Given the description of an element on the screen output the (x, y) to click on. 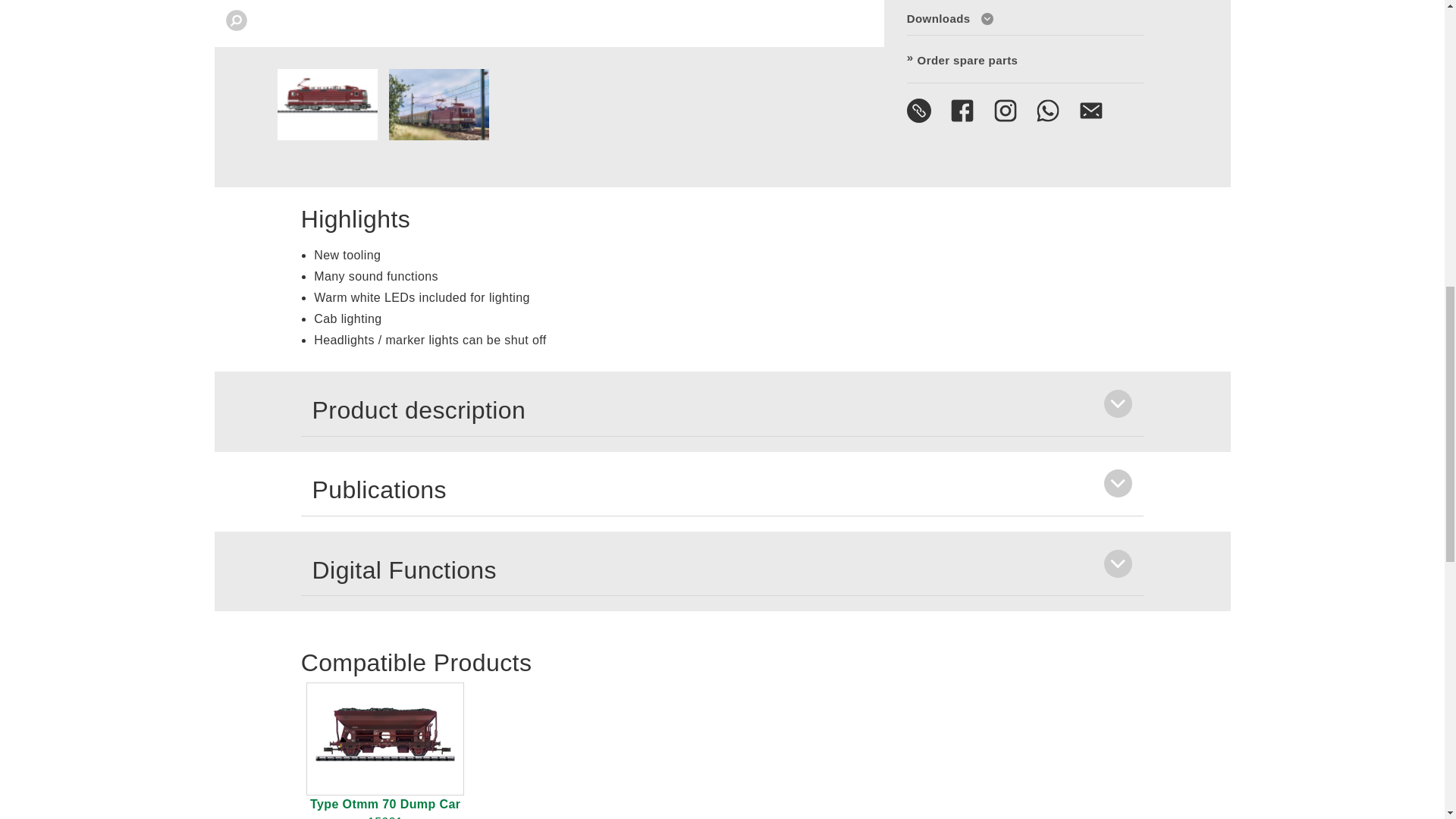
Product description (722, 411)
Publications (722, 491)
Digital Functions (722, 570)
